Given the description of an element on the screen output the (x, y) to click on. 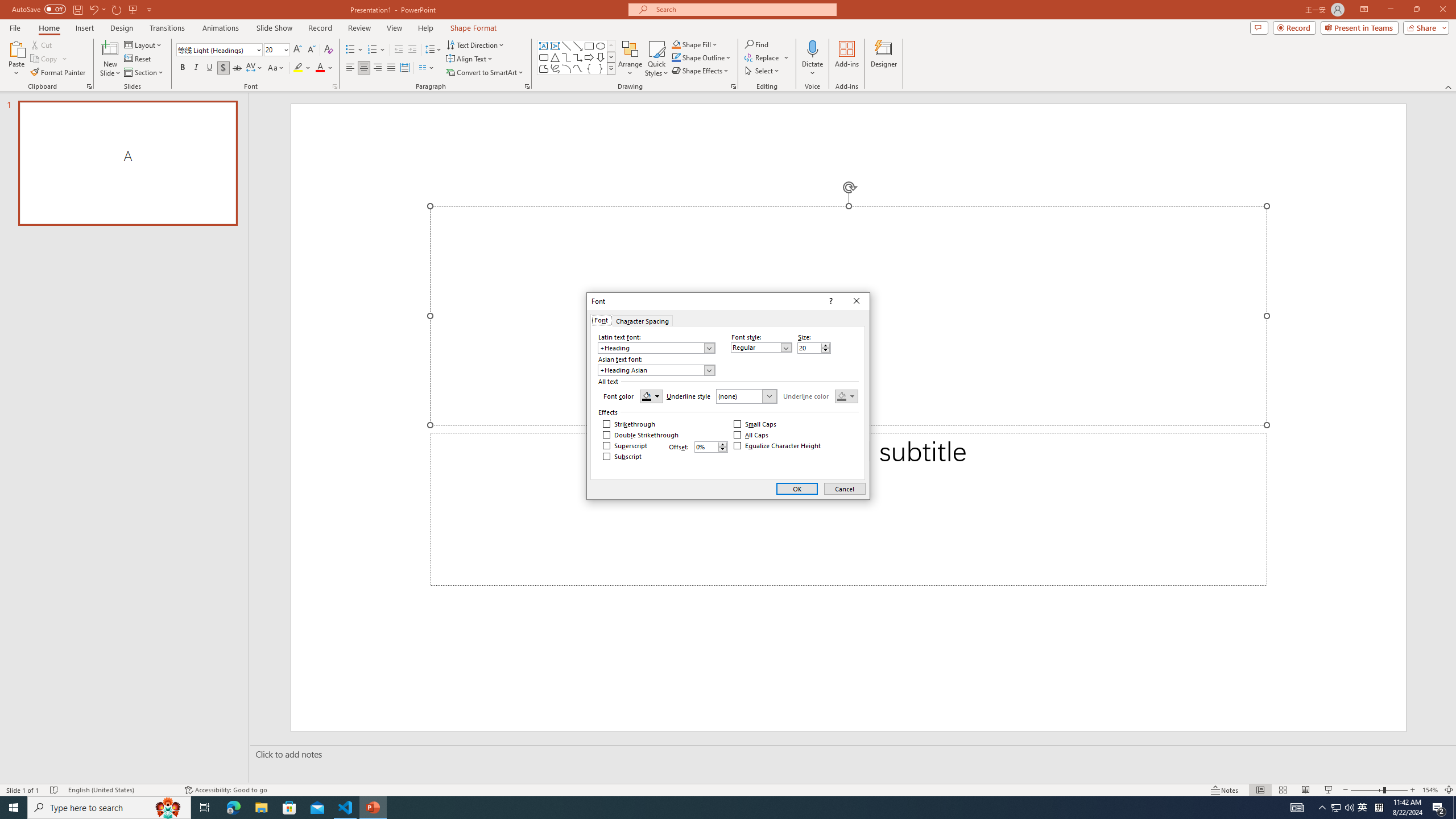
Underline (209, 67)
Font color RGB(0, 0, 0) (651, 396)
Small Caps (755, 424)
Distributed (404, 67)
Align Left (349, 67)
Find... (756, 44)
Columns (426, 67)
Curve (577, 68)
User Promoted Notification Area (1342, 807)
Convert to SmartArt (485, 72)
Microsoft Edge (233, 807)
